Given the description of an element on the screen output the (x, y) to click on. 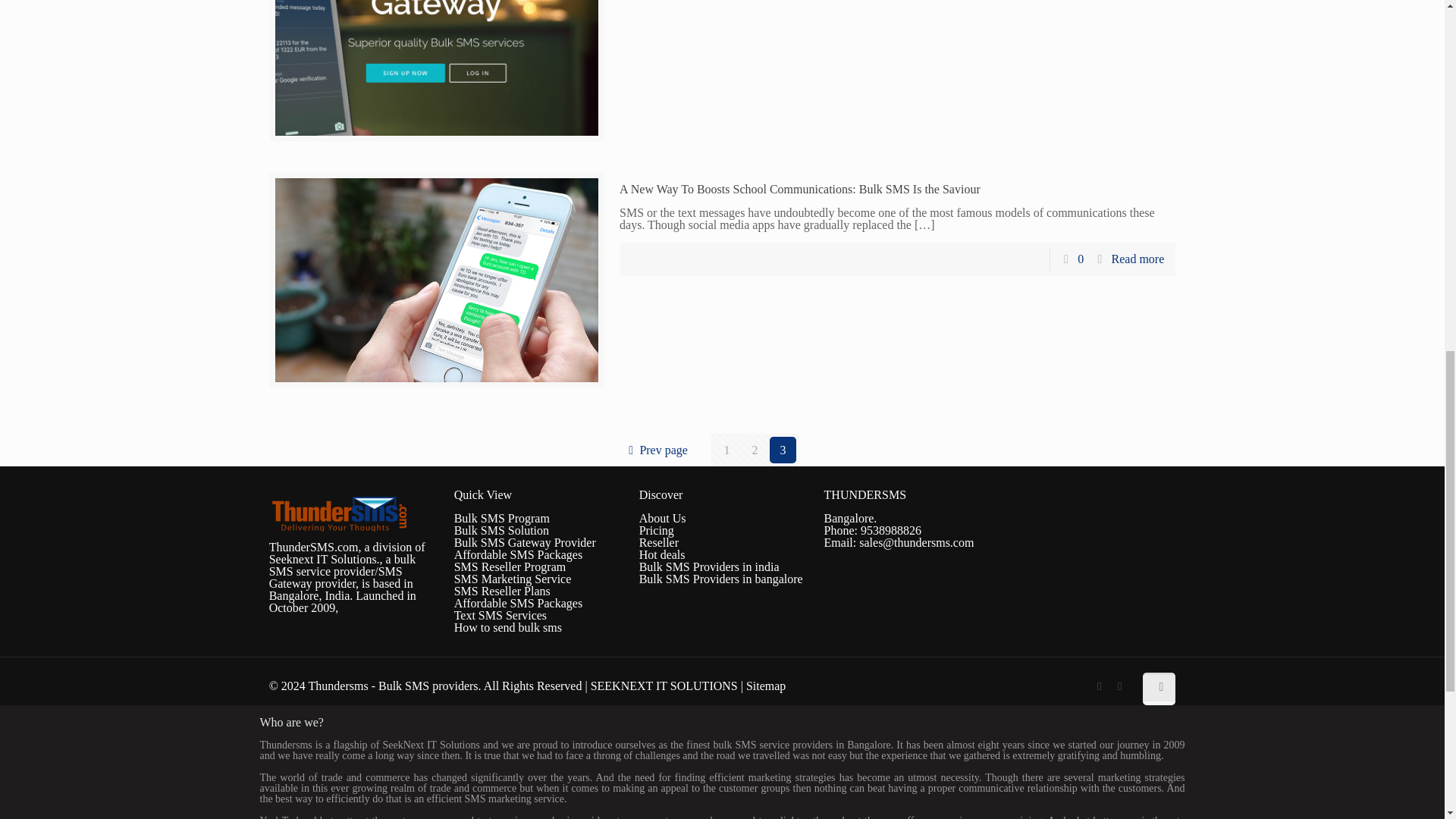
Twitter (1119, 686)
Facebook (1098, 686)
